Given the description of an element on the screen output the (x, y) to click on. 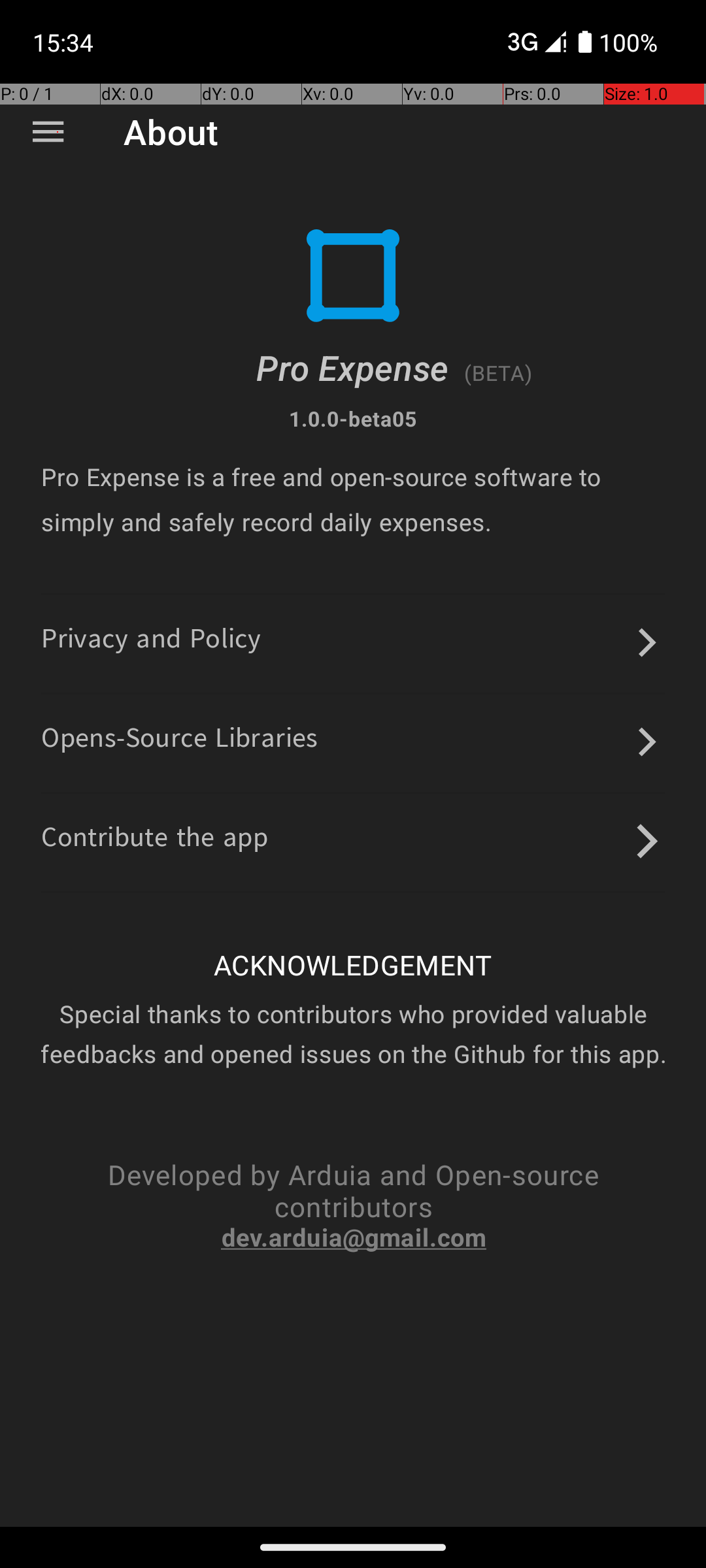
About Element type: android.widget.TextView (170, 131)
Pro Expense Element type: android.widget.TextView (352, 367)
(BETA) Element type: android.widget.TextView (497, 372)
1.0.0-beta05 Element type: android.widget.TextView (352, 418)
Pro Expense is a free and open-source software to simply and safely record daily expenses. Element type: android.widget.TextView (352, 498)
ACKNOWLEDGEMENT Element type: android.widget.TextView (352, 964)
Special thanks to contributors who provided valuable feedbacks and opened issues on the Github for this app. Element type: android.widget.TextView (352, 1033)
Developed by Arduia and Open-source contributors
dev.arduia@gmail.com Element type: android.widget.TextView (352, 1204)
Privacy and Policy Element type: android.widget.TextView (151, 642)
Opens-Source Libraries Element type: android.widget.TextView (179, 741)
Contribute the app Element type: android.widget.TextView (154, 841)
